Given the description of an element on the screen output the (x, y) to click on. 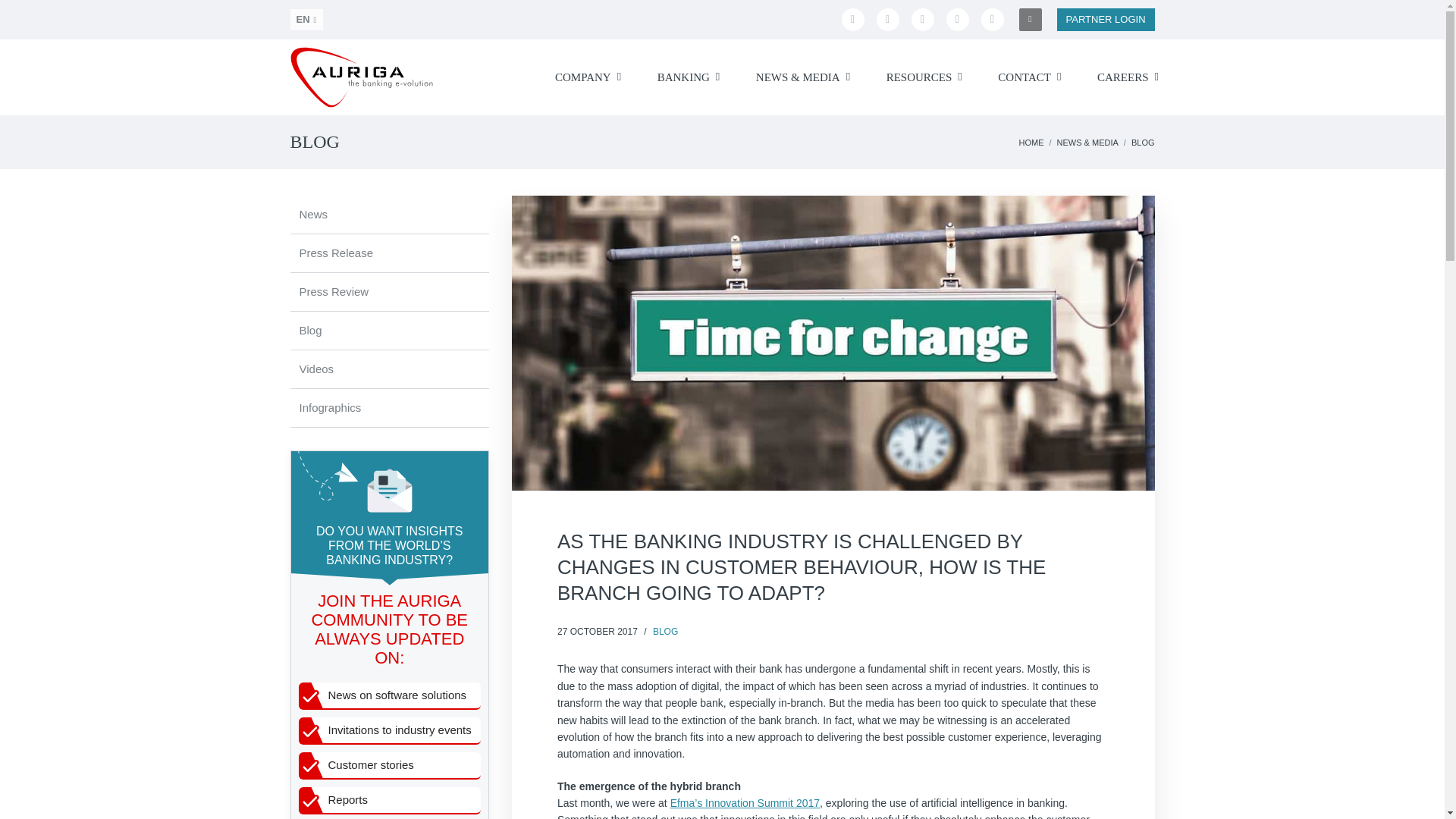
Linkedin (887, 19)
PARTNER LOGIN (1105, 19)
EN (305, 19)
Facebook (852, 19)
Instagram (957, 19)
The banking evolution (360, 77)
Youtube (922, 19)
COMPANY (582, 76)
BANKING (683, 76)
Feed (992, 19)
COMPANY (582, 76)
